Given the description of an element on the screen output the (x, y) to click on. 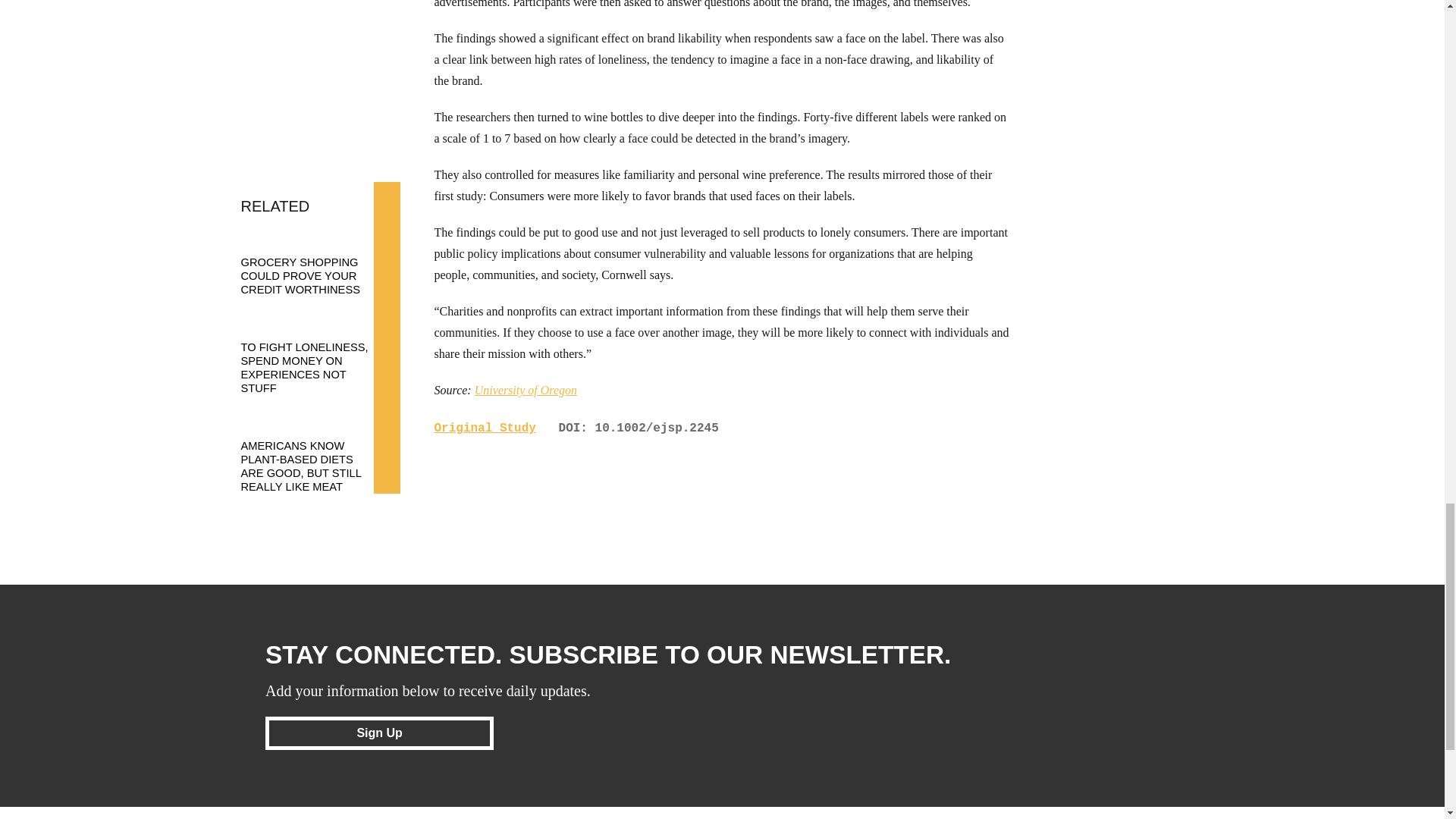
To fight loneliness, spend money on experiences not stuff (313, 353)
Grocery shopping could prove your credit worthiness (313, 261)
